Given the description of an element on the screen output the (x, y) to click on. 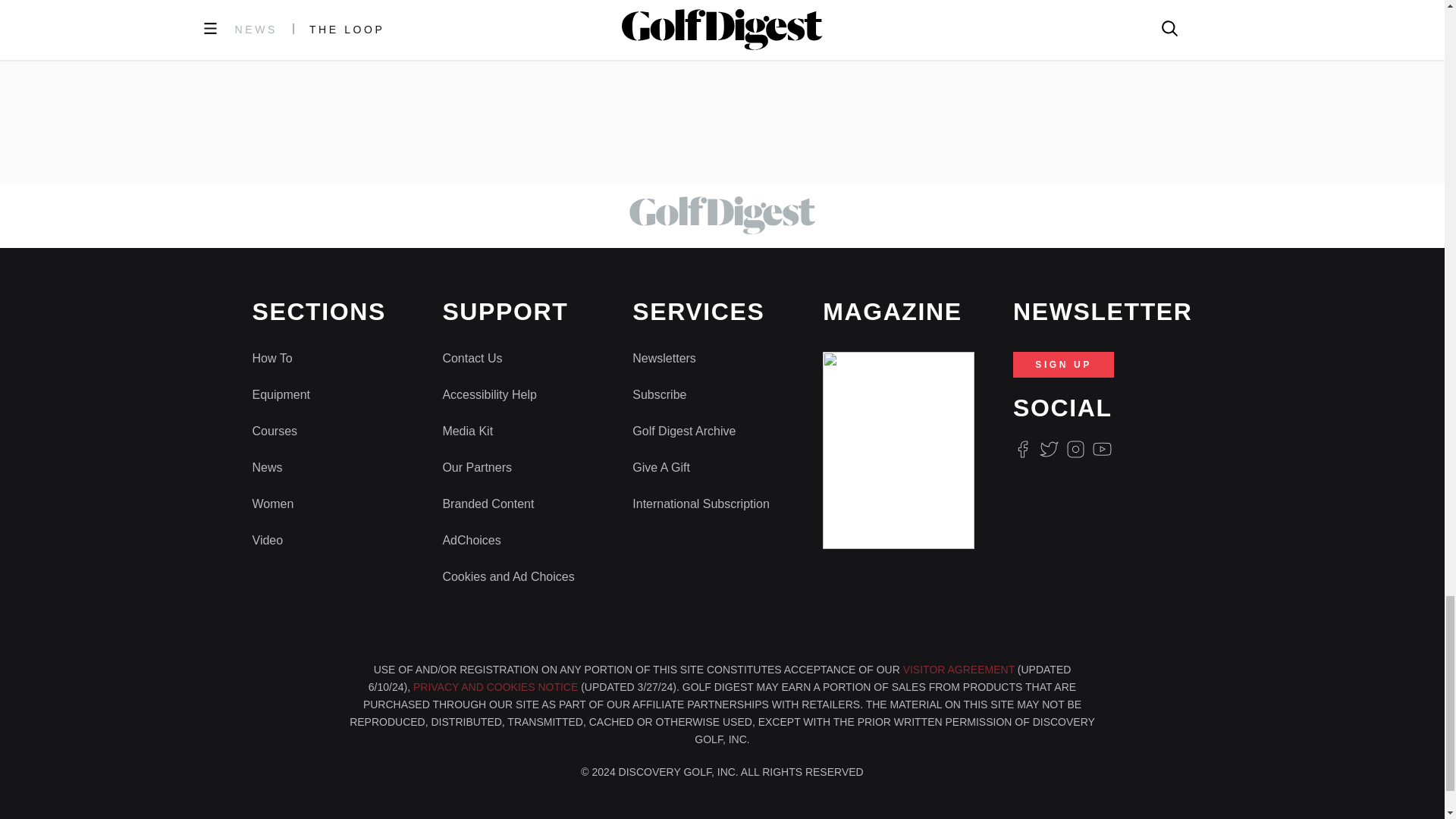
Twitter Logo (1048, 448)
Instagram Logo (1074, 448)
Facebook Logo (1022, 448)
Youtube Icon (1102, 448)
